Given the description of an element on the screen output the (x, y) to click on. 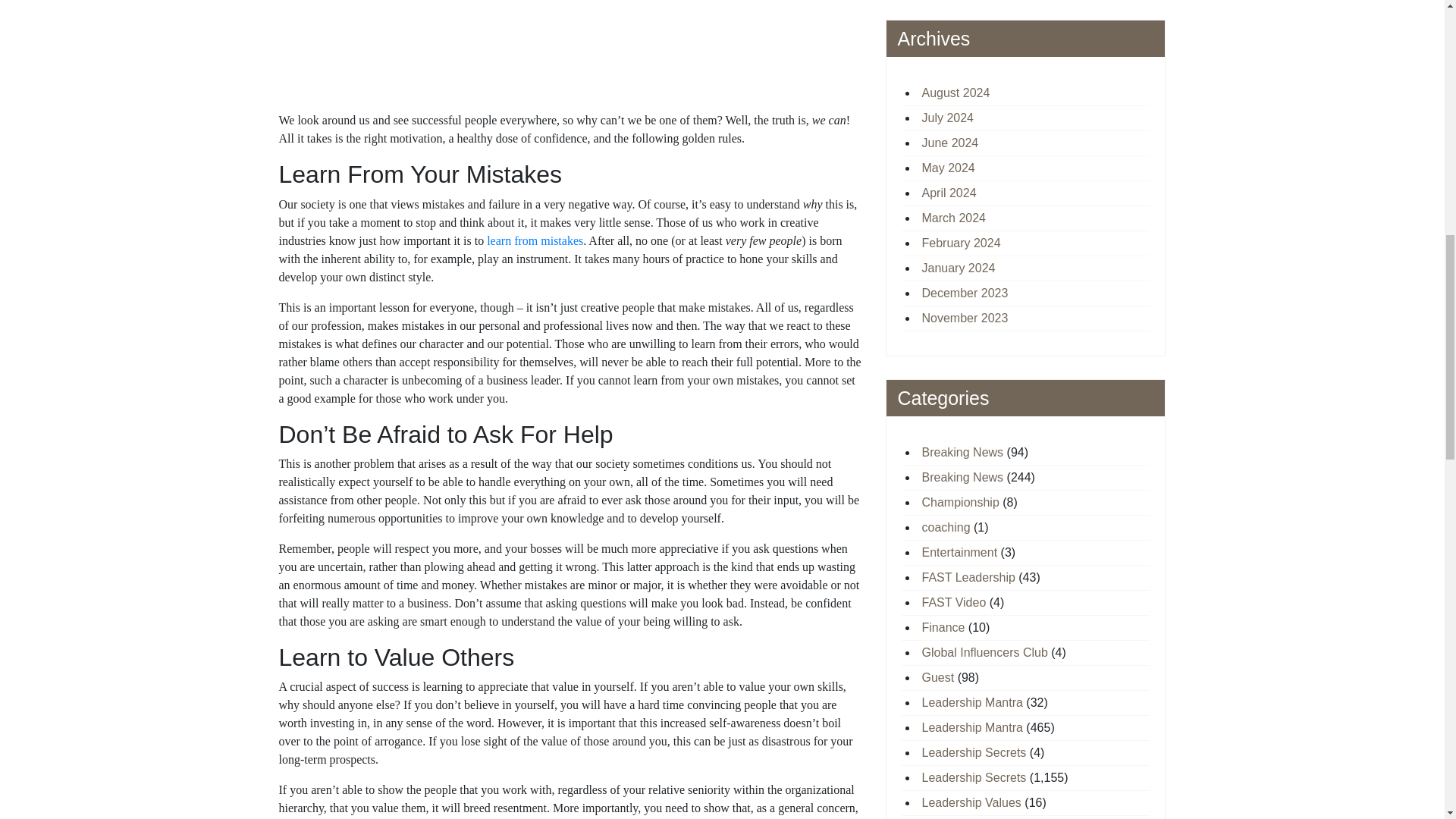
Breaking News (962, 477)
FAST Video (954, 602)
June 2024 (949, 142)
Entertainment (959, 552)
August 2024 (955, 92)
January 2024 (958, 267)
learn from mistakes (534, 240)
May 2024 (948, 167)
July 2024 (947, 117)
February 2024 (961, 242)
